Given the description of an element on the screen output the (x, y) to click on. 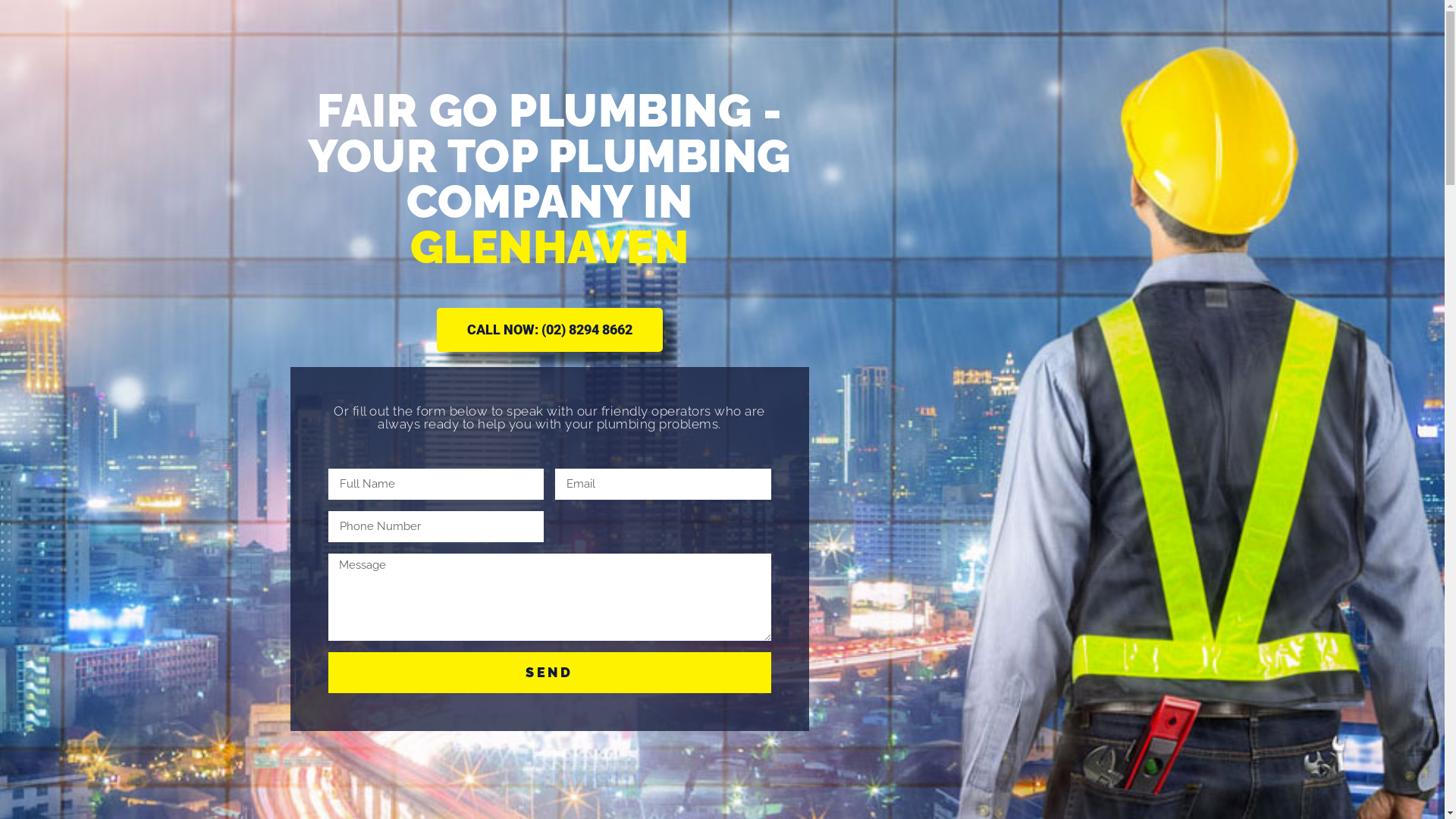
CALL NOW: (02) 8294 8662 Element type: text (549, 329)
SEND Element type: text (548, 672)
